Given the description of an element on the screen output the (x, y) to click on. 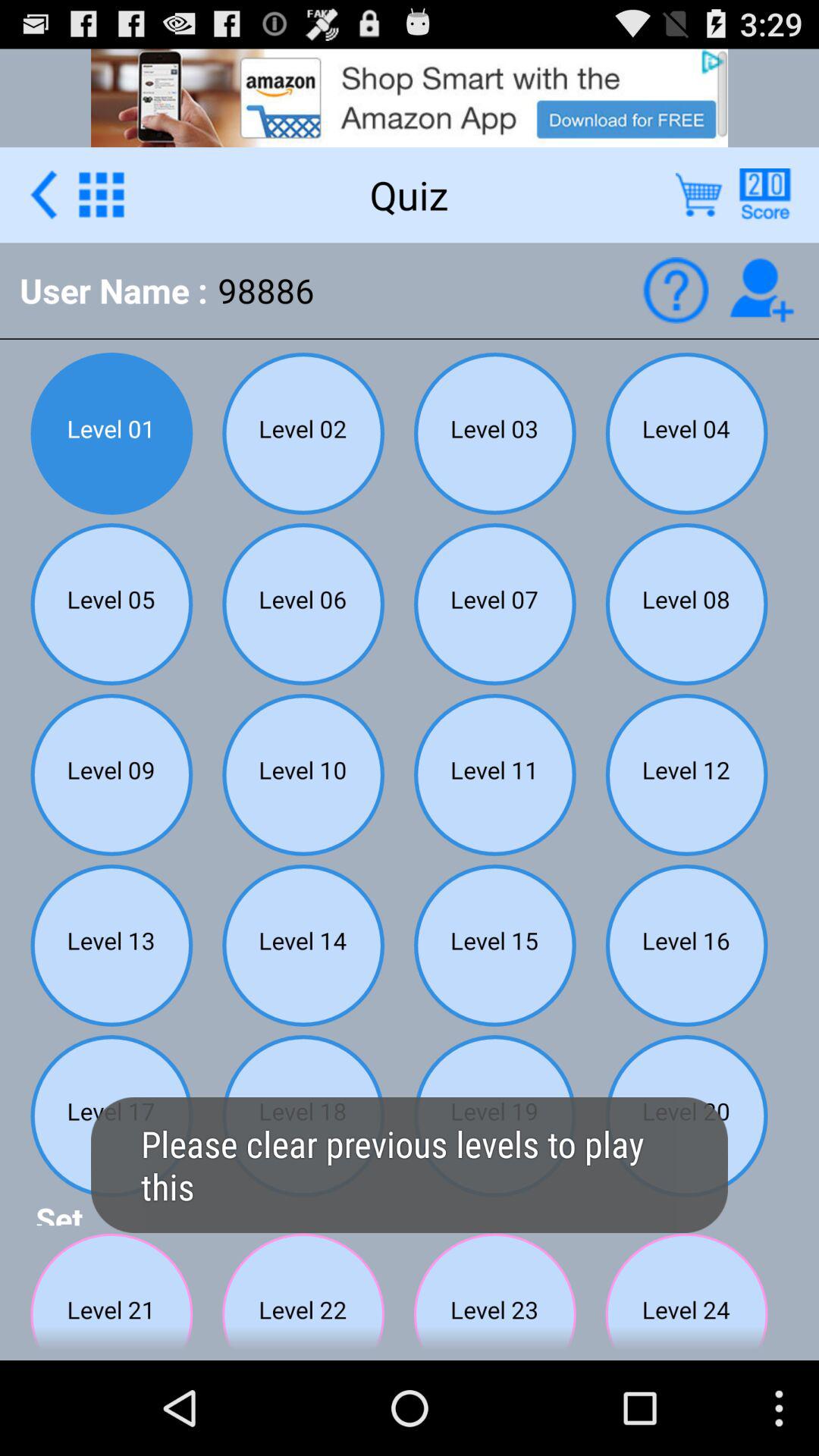
main botten (101, 194)
